Given the description of an element on the screen output the (x, y) to click on. 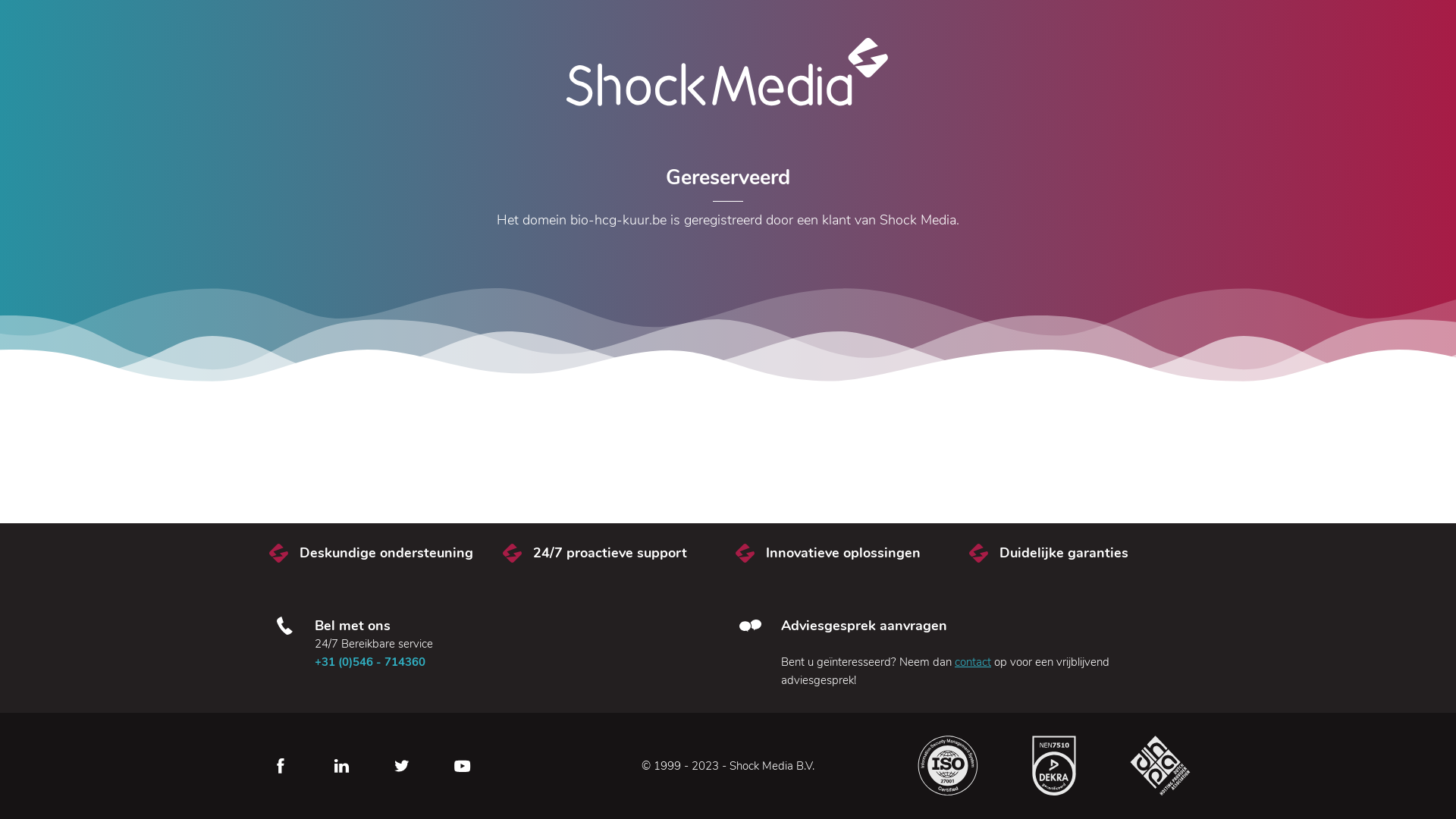
YouTube Element type: text (462, 765)
contact Element type: text (972, 661)
Twitter Element type: text (401, 765)
Facebook Element type: text (280, 765)
+31 (0)546 - 714360 Element type: text (369, 661)
LinkedIn Element type: text (341, 765)
Shock Media Element type: text (727, 71)
